Given the description of an element on the screen output the (x, y) to click on. 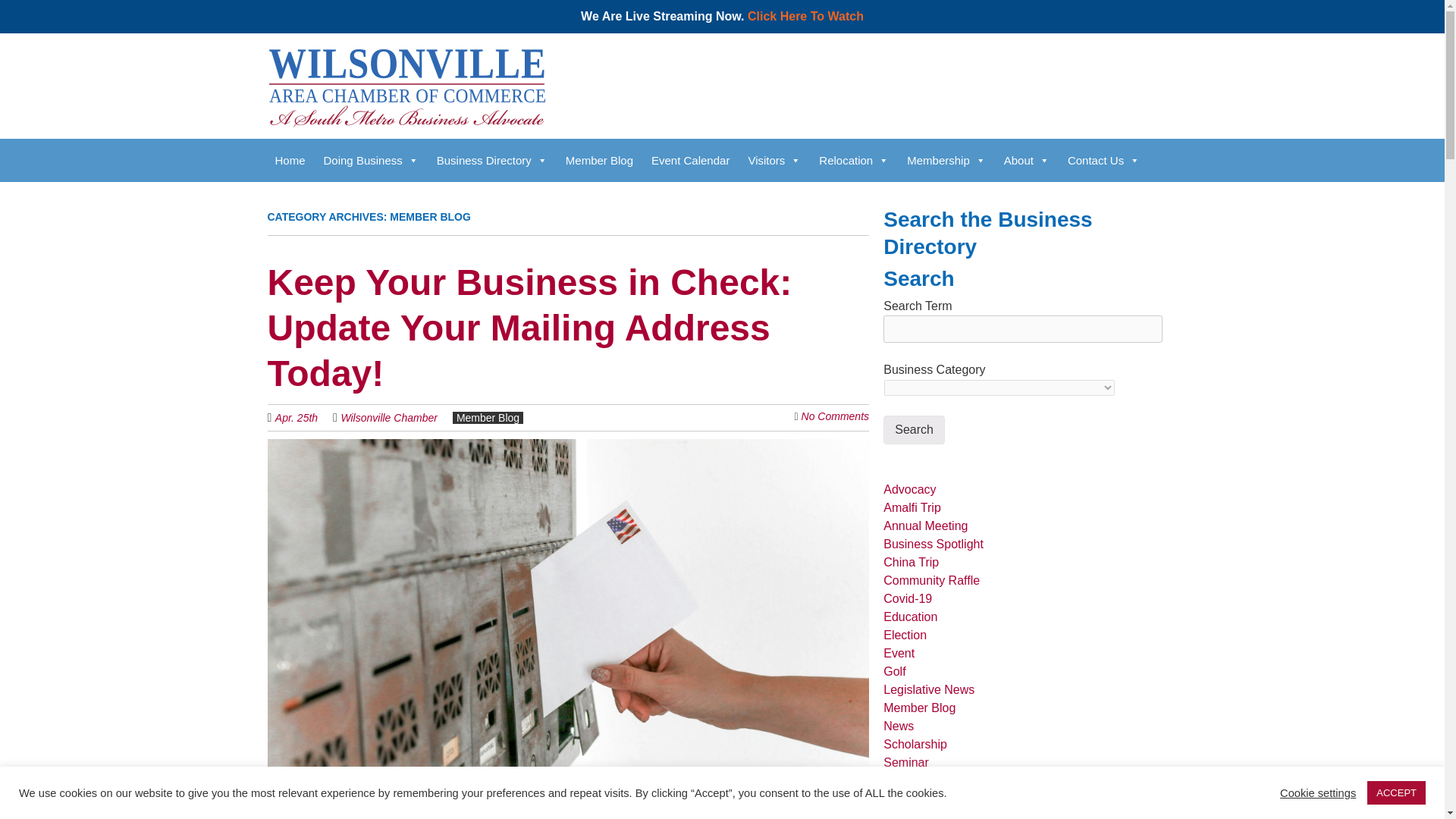
Member Blog (598, 159)
Search (913, 429)
Wilsonville Chamber of Commerce - Wilsonville, OR (405, 100)
Membership (945, 159)
Business Directory (491, 159)
Home (289, 159)
Doing Business (370, 159)
Event Calendar (689, 159)
Click Here To Watch (805, 15)
View all posts by Wilsonville Chamber (388, 417)
Relocation (853, 159)
Visitors (773, 159)
